Given the description of an element on the screen output the (x, y) to click on. 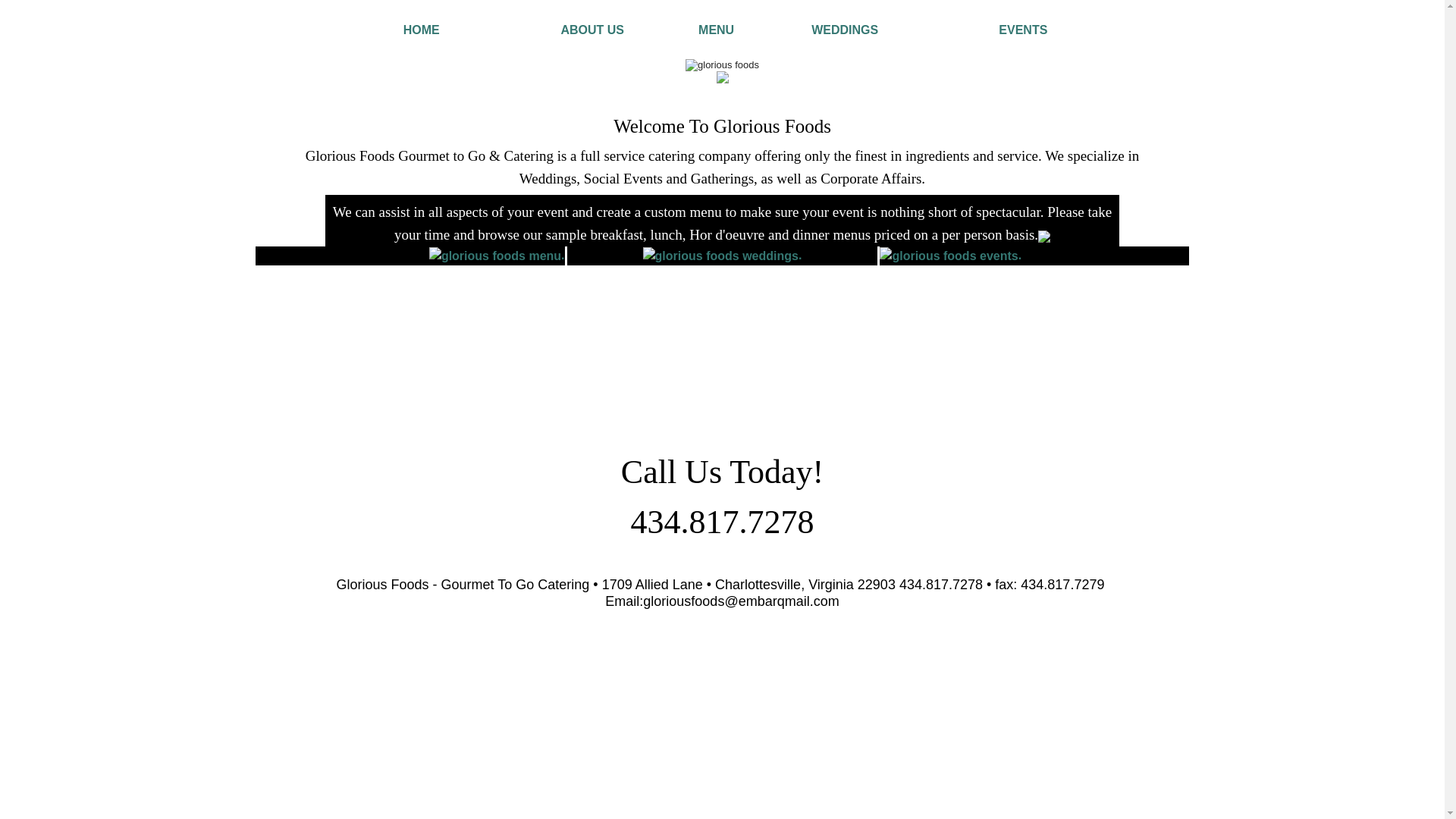
HOME (421, 29)
. (799, 254)
WEDDINGS (843, 29)
ABOUT US (592, 29)
. (1019, 254)
MENU (715, 29)
EVENTS (1022, 29)
. (562, 254)
